Given the description of an element on the screen output the (x, y) to click on. 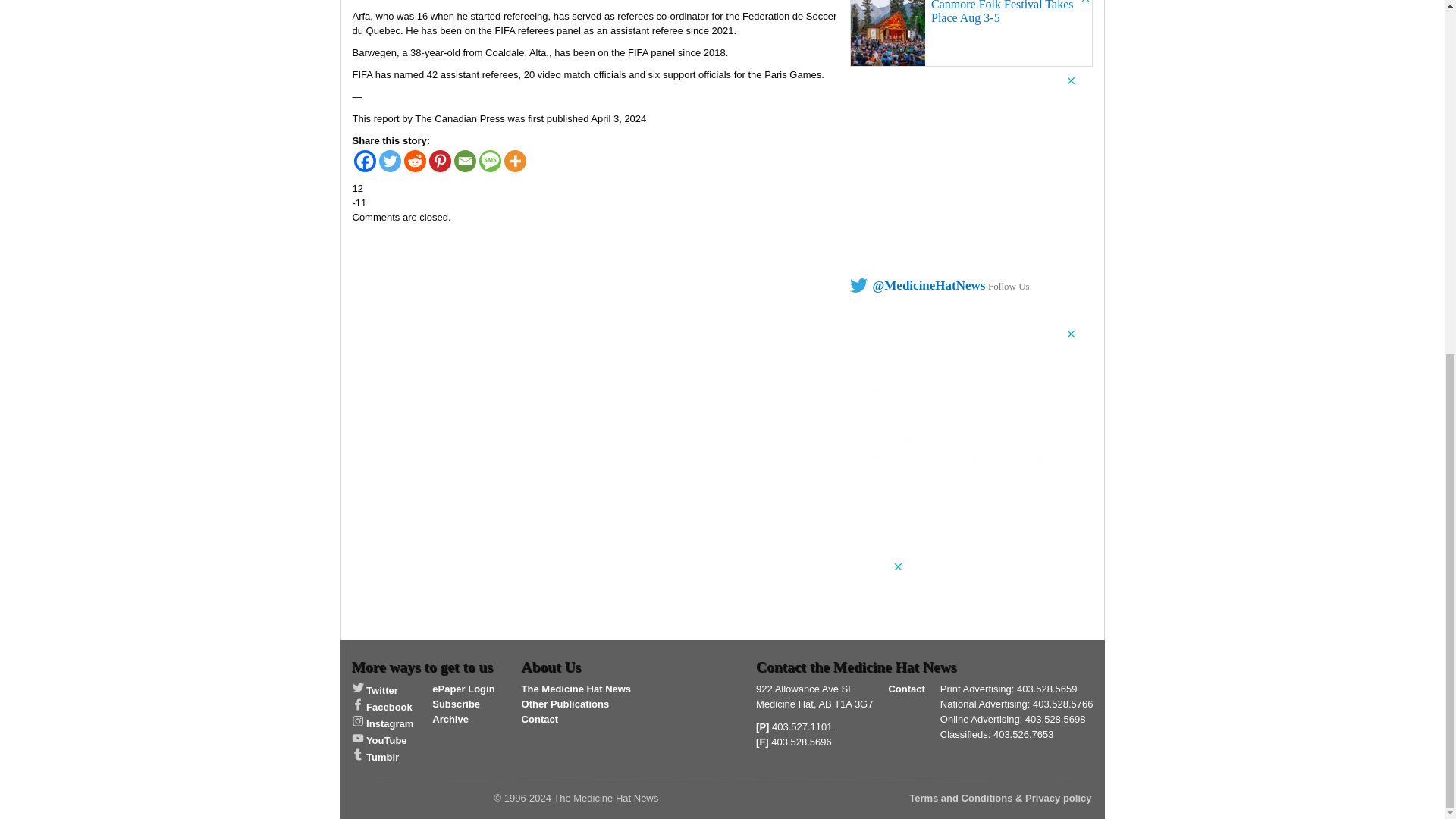
More (514, 160)
3rd party ad content (628, 594)
Facebook (382, 706)
Reddit (414, 160)
3rd party ad content (962, 421)
Twitter (374, 690)
Pinterest (440, 160)
Email (464, 160)
3rd party ad content (970, 33)
3rd party ad content (962, 168)
Facebook (364, 160)
Twitter (389, 160)
SMS (489, 160)
